Given the description of an element on the screen output the (x, y) to click on. 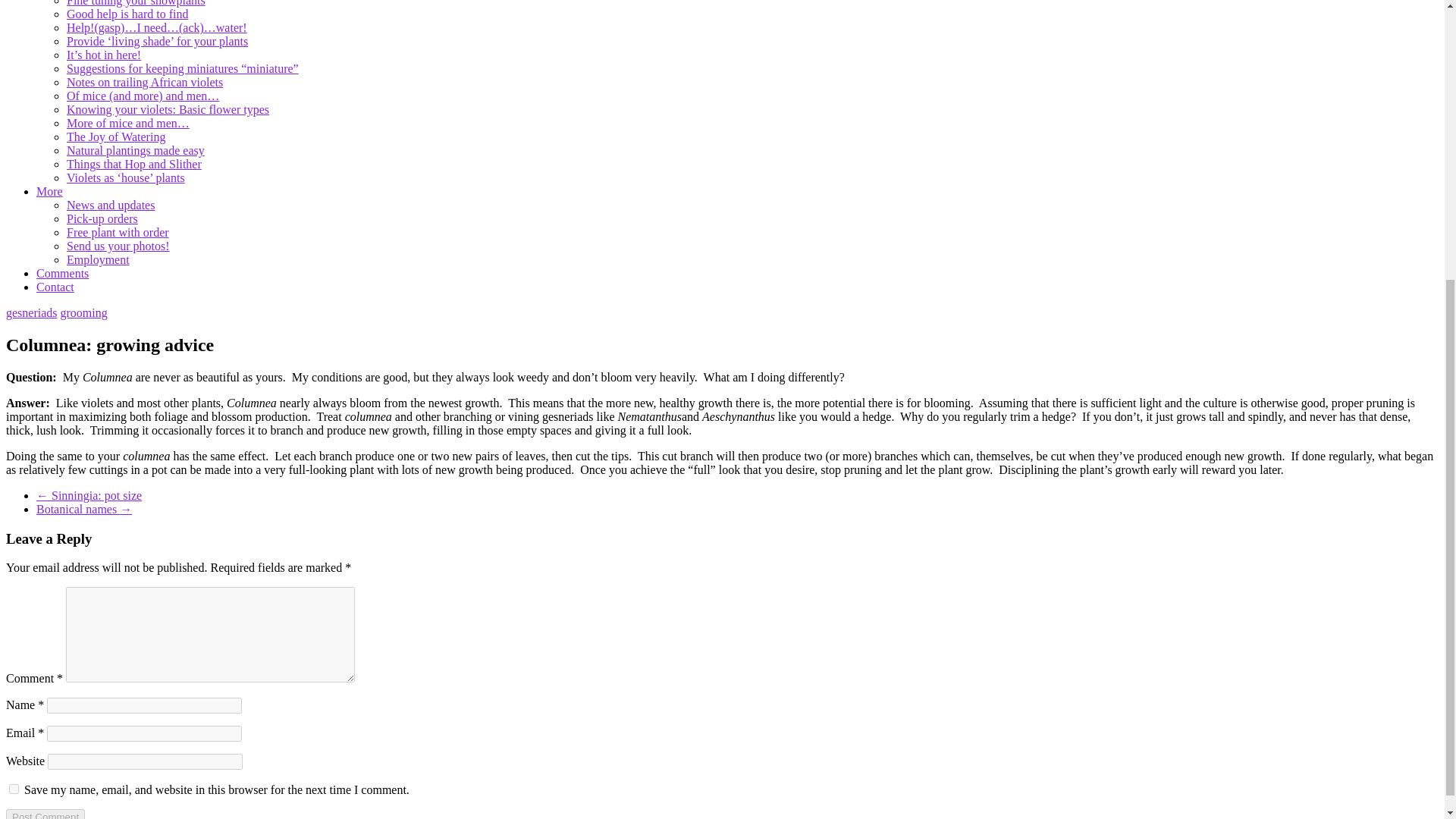
Notes on trailing African violets (144, 82)
Knowing your violets: Basic flower types (167, 109)
Fine tuning your showplants (135, 3)
yes (13, 788)
Good help is hard to find (126, 13)
The Joy of Watering (115, 136)
